Given the description of an element on the screen output the (x, y) to click on. 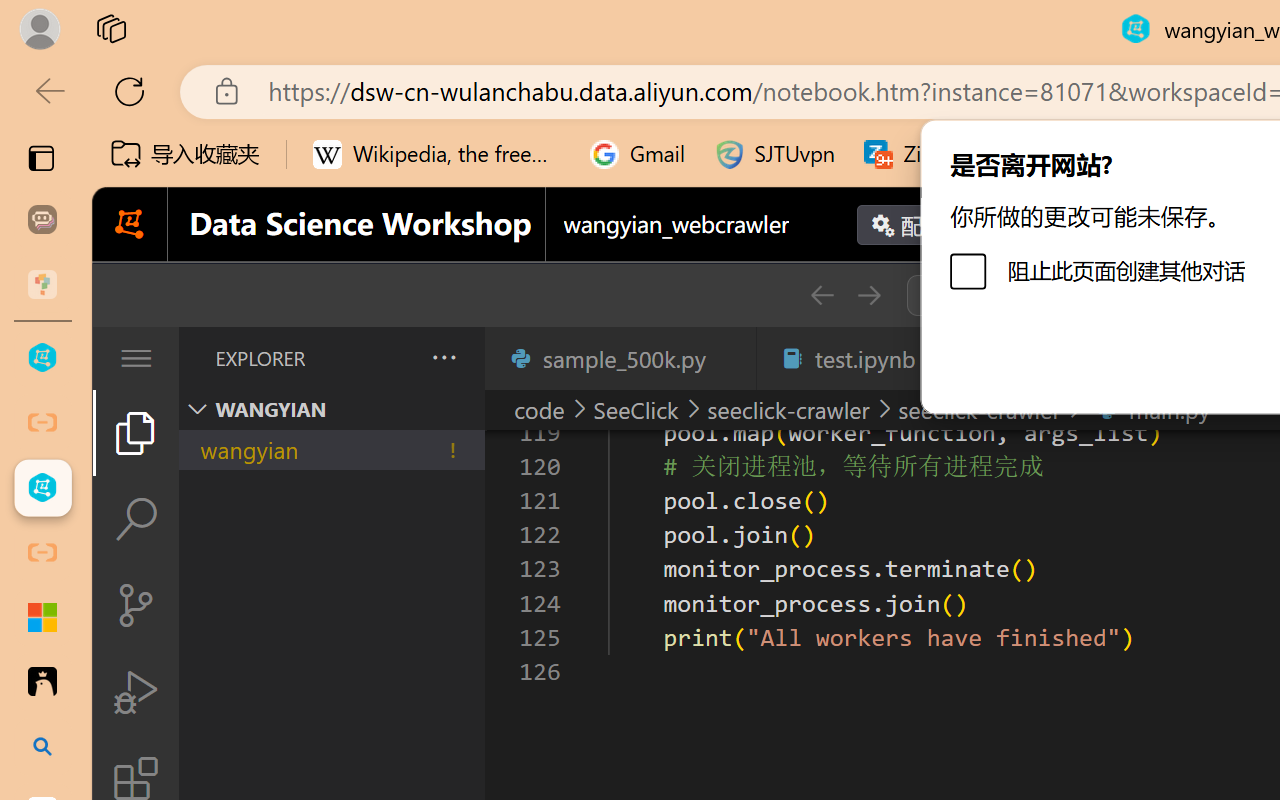
Organic (708, 111)
Facet (243, 111)
Office Theme (150, 111)
Integral (429, 111)
Ion (522, 111)
